Given the description of an element on the screen output the (x, y) to click on. 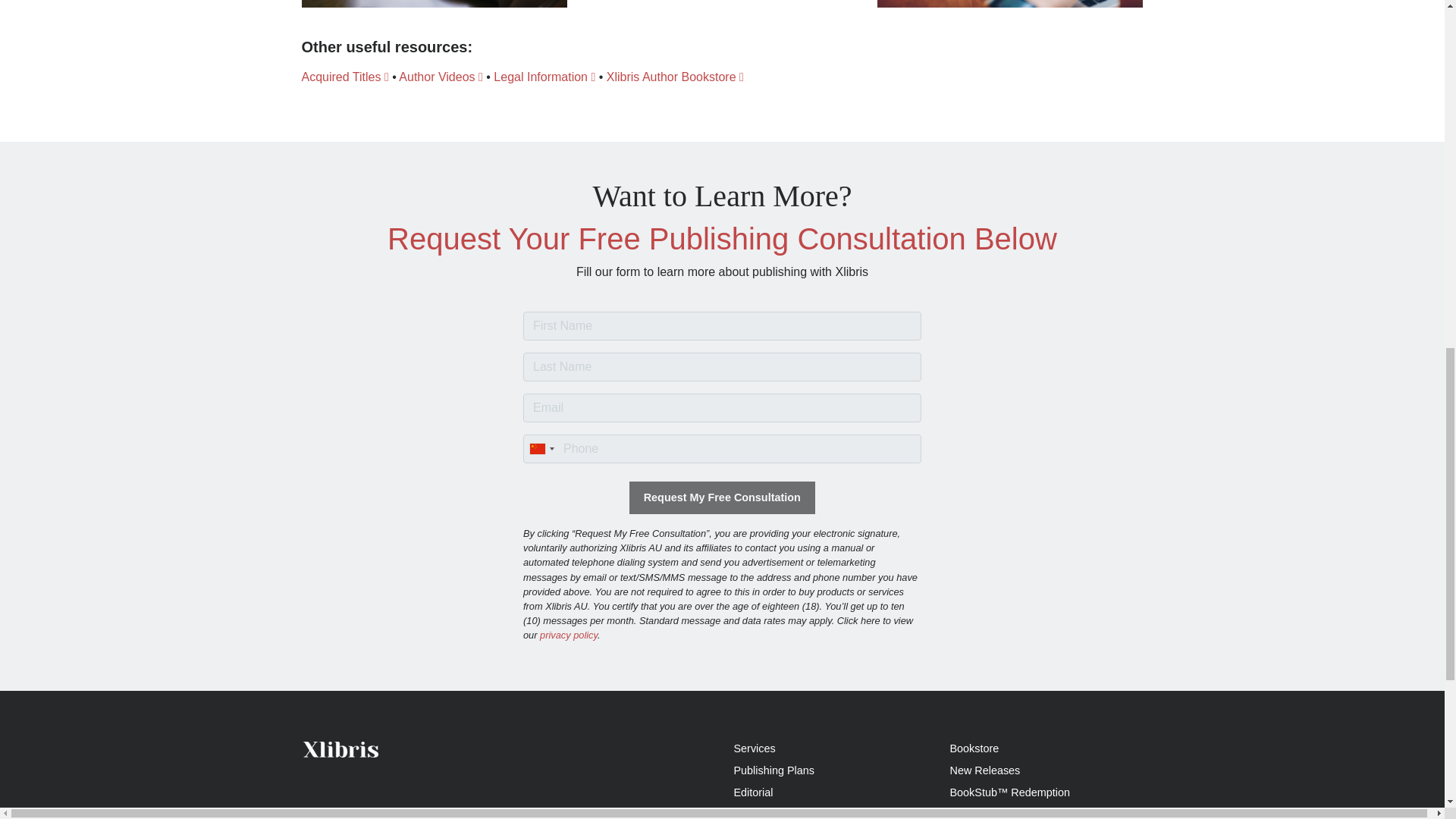
Xlibris Author Bookstore (675, 76)
privacy policy (568, 634)
Legal Information (544, 76)
Author Videos (440, 76)
Services (754, 748)
Publishing Plans (773, 770)
Request My Free Consultation (721, 497)
Editorial (753, 792)
Request My Free Consultation (721, 497)
Acquired Titles (344, 76)
Add-On (752, 813)
